Given the description of an element on the screen output the (x, y) to click on. 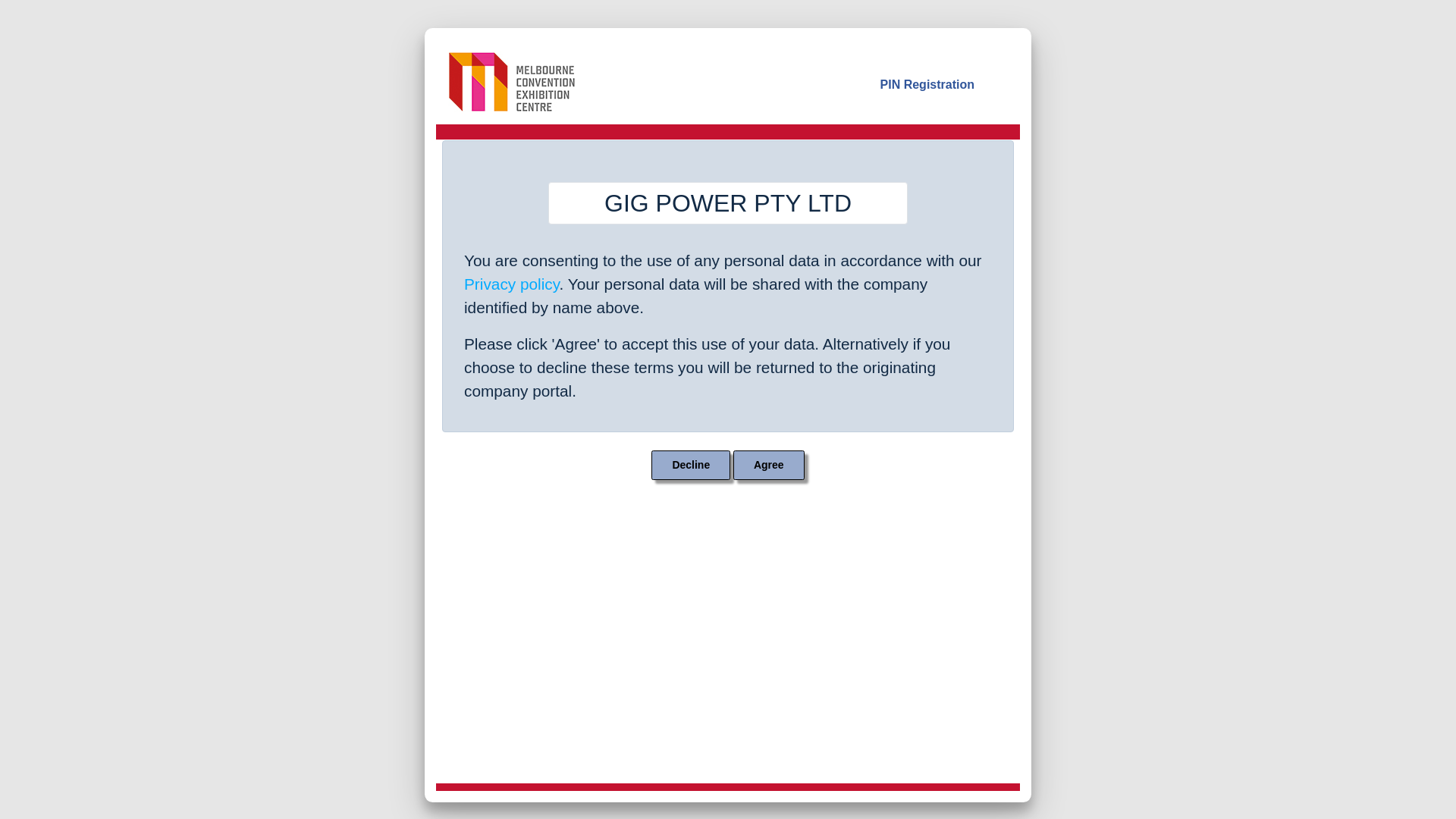
Agree Element type: text (768, 465)
Decline Element type: text (690, 465)
Privacy policy Element type: text (511, 283)
